Given the description of an element on the screen output the (x, y) to click on. 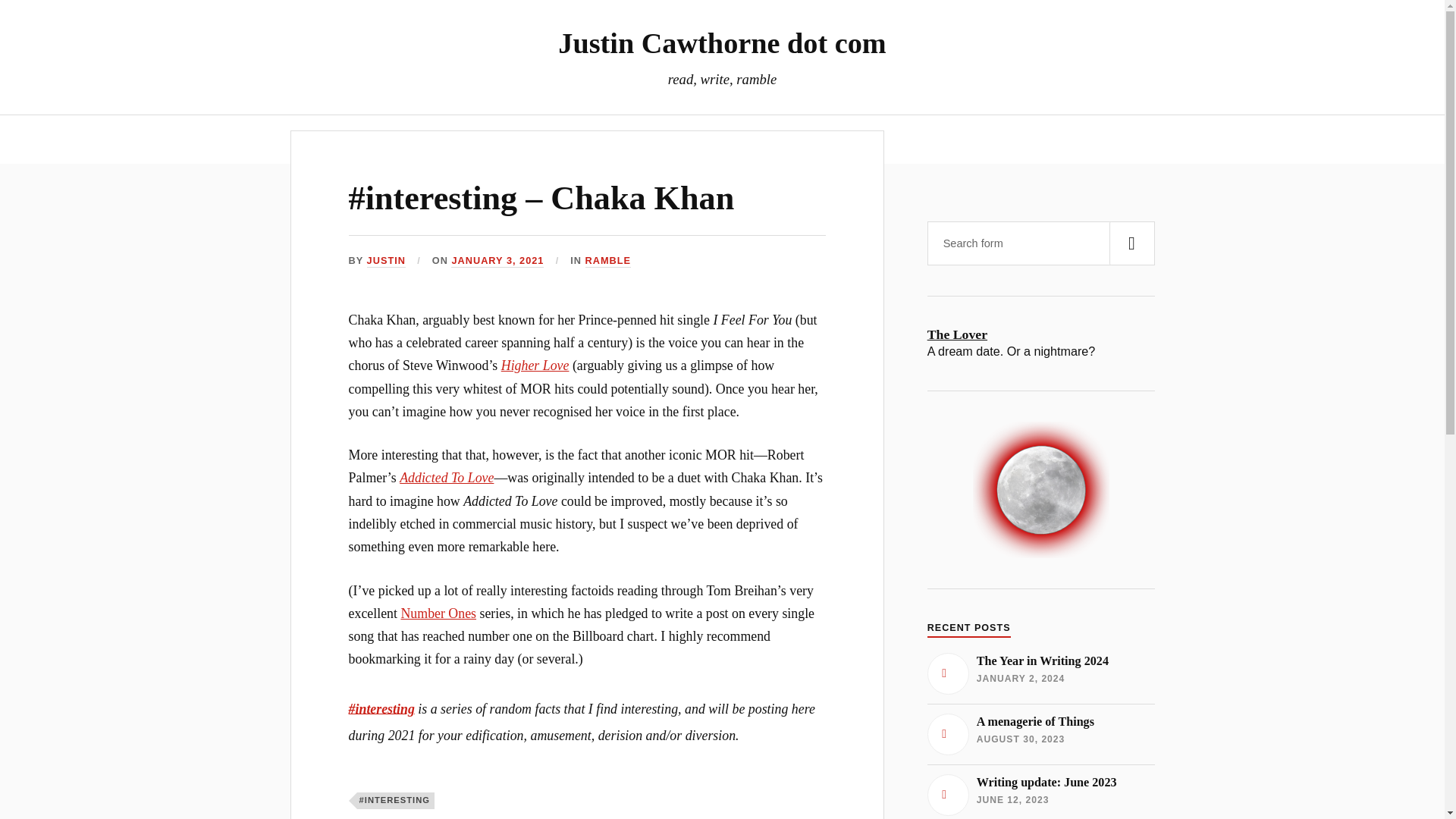
Justin Cawthorne dot com (721, 42)
JUSTIN (386, 260)
RAMBLE (608, 260)
Addicted To Love (445, 477)
Number Ones (438, 613)
The Lover (1040, 334)
JANUARY 3, 2021 (1040, 733)
There Is A Light That Never Goes Out (497, 260)
Slightly Odd Tales (782, 138)
Posts by Justin (616, 138)
Higher Love (1040, 793)
